Given the description of an element on the screen output the (x, y) to click on. 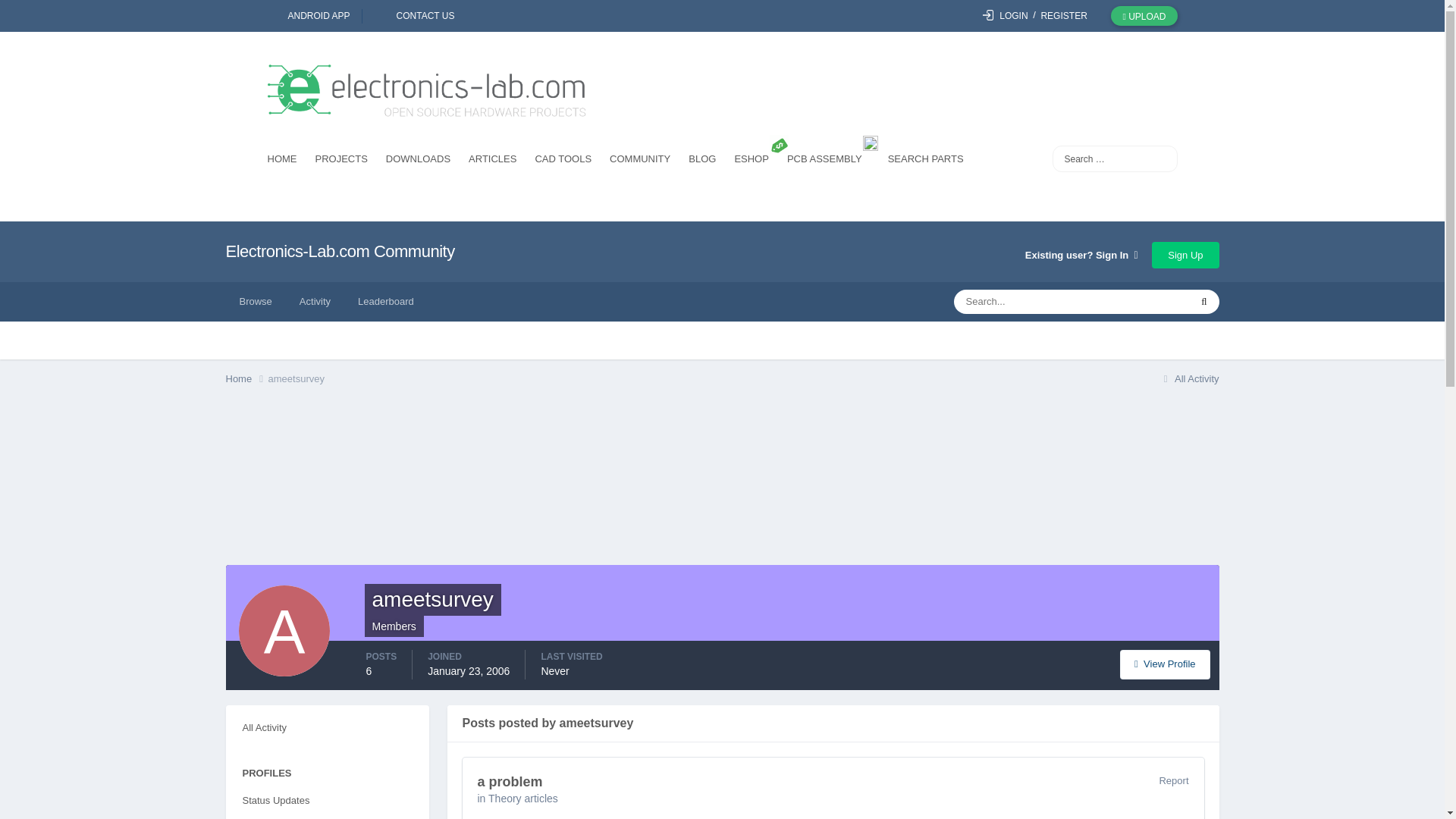
REGISTER (1063, 15)
PCBONLINE PCB service (828, 160)
LOGIN (1004, 15)
Home (246, 378)
View the topic a problem (510, 781)
ANDROID APP (313, 16)
Report this content (1173, 780)
electroniclabs (425, 91)
Advertisement (721, 480)
UPLOAD (1143, 15)
